Given the description of an element on the screen output the (x, y) to click on. 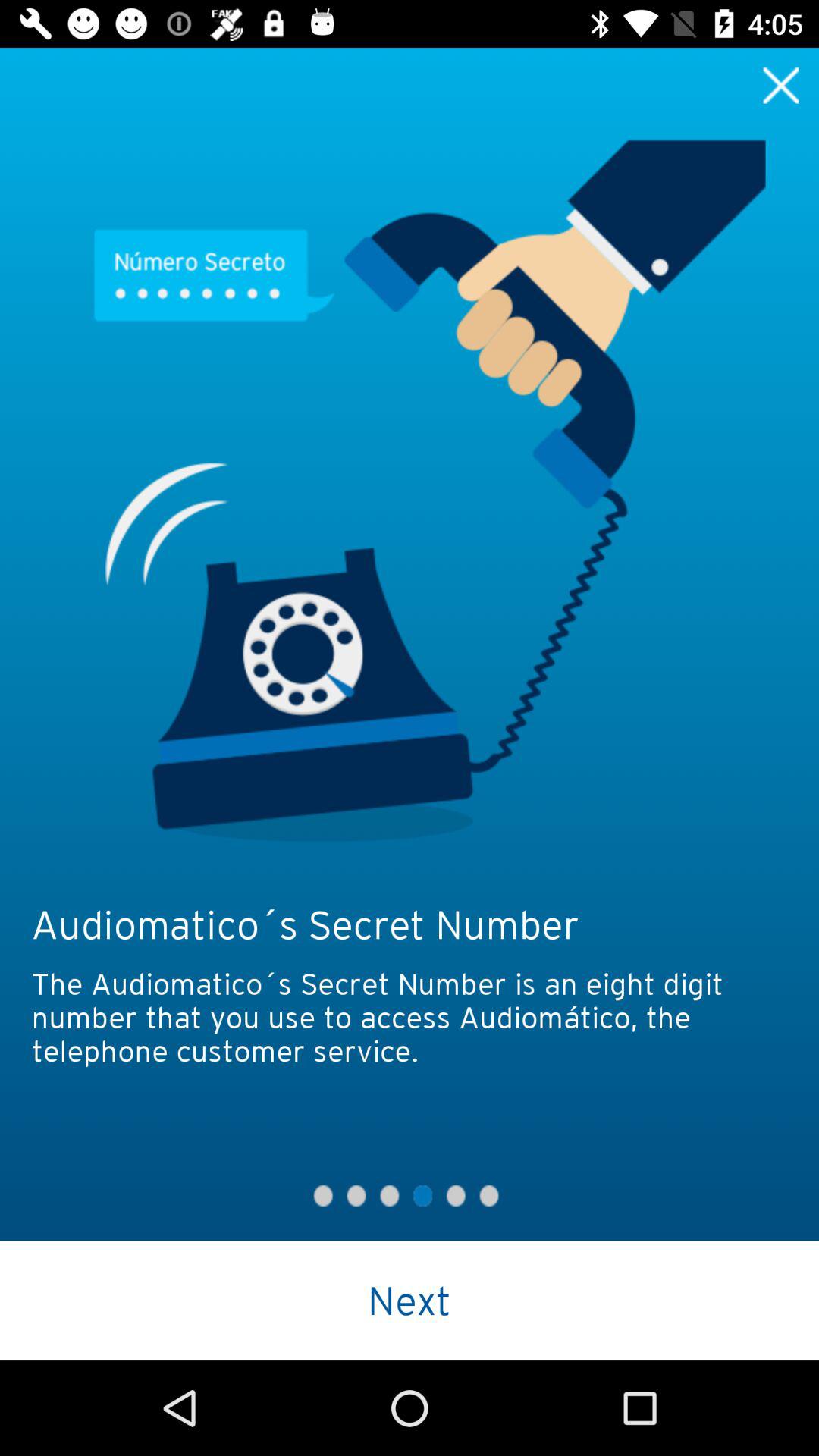
exit (781, 85)
